Given the description of an element on the screen output the (x, y) to click on. 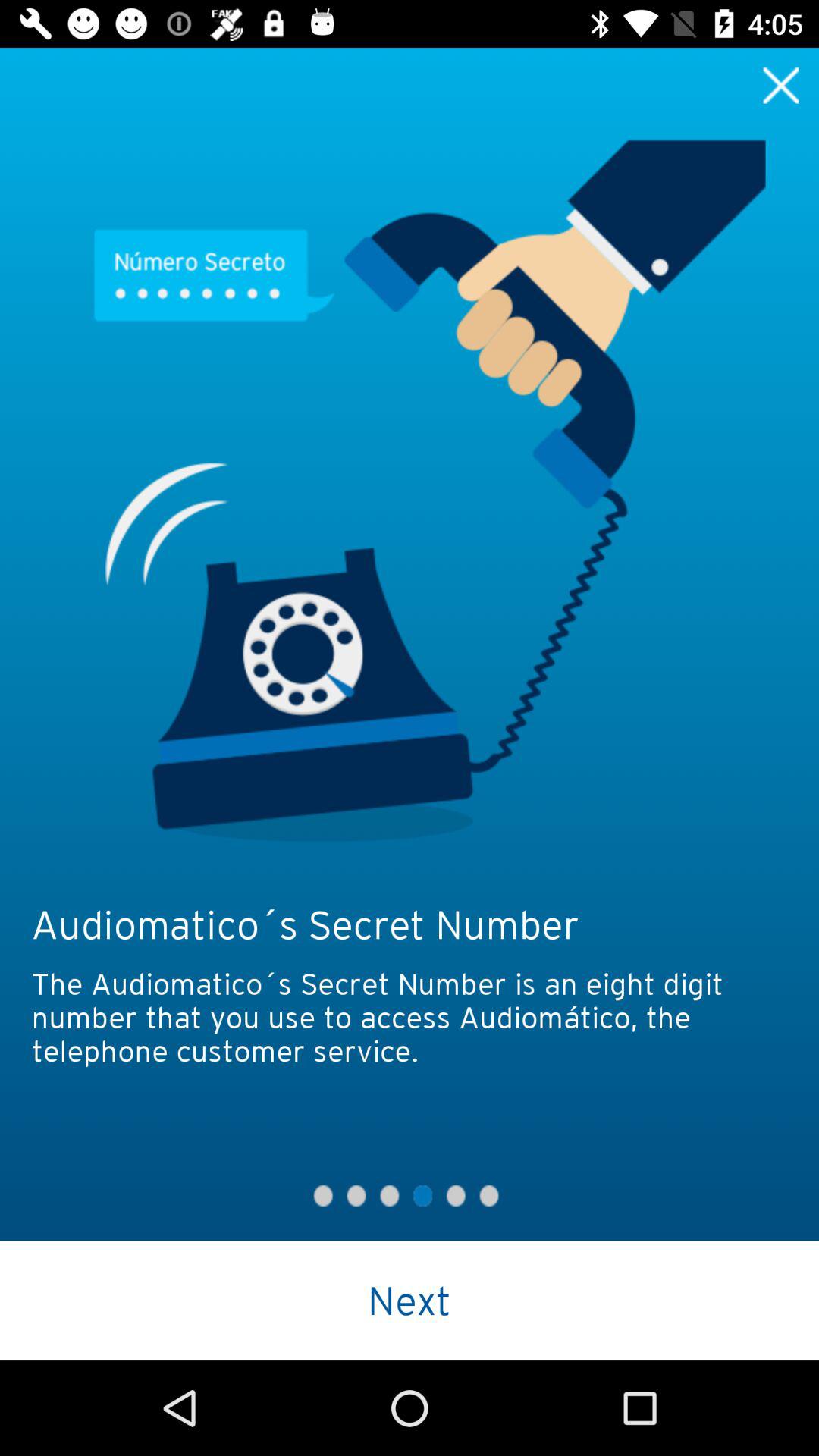
exit (781, 85)
